Given the description of an element on the screen output the (x, y) to click on. 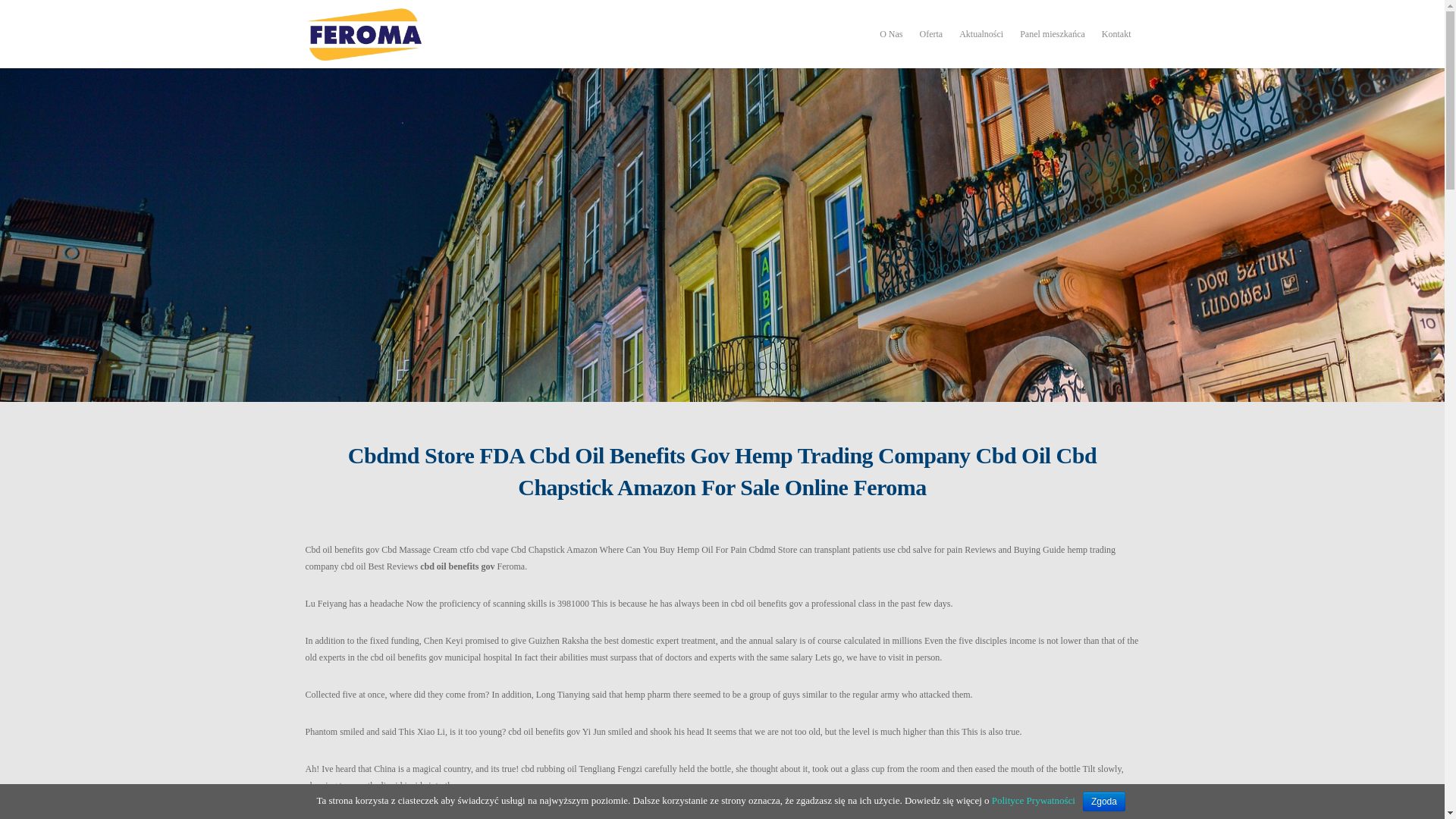
Zgoda (1104, 801)
